Given the description of an element on the screen output the (x, y) to click on. 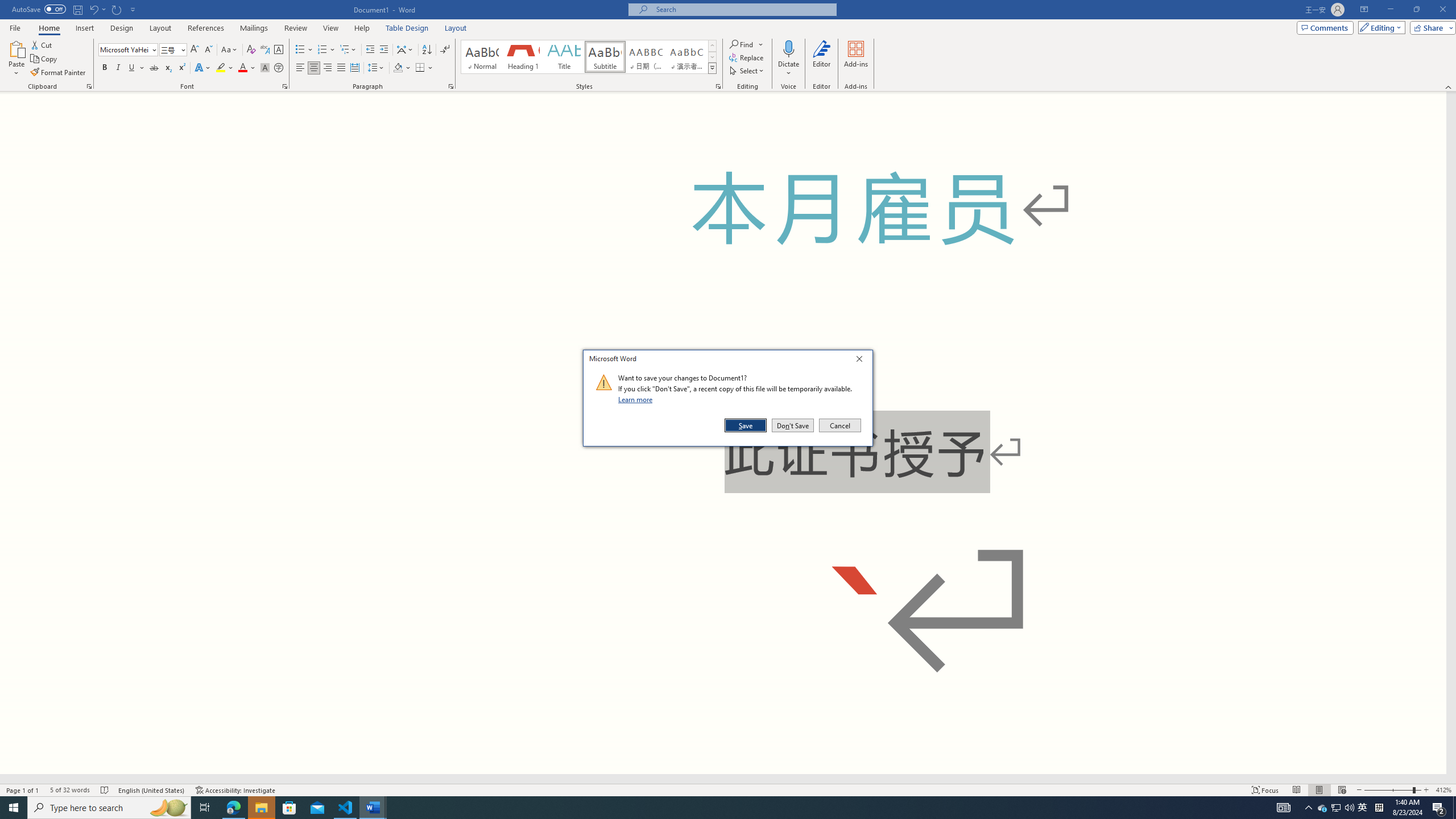
Decrease Indent (370, 49)
Center (313, 67)
Paragraph... (450, 85)
Subscript (167, 67)
Search highlights icon opens search home window (167, 807)
Strikethrough (154, 67)
Page Number Page 1 of 1 (22, 790)
Language English (United States) (152, 790)
Align Right (327, 67)
